Given the description of an element on the screen output the (x, y) to click on. 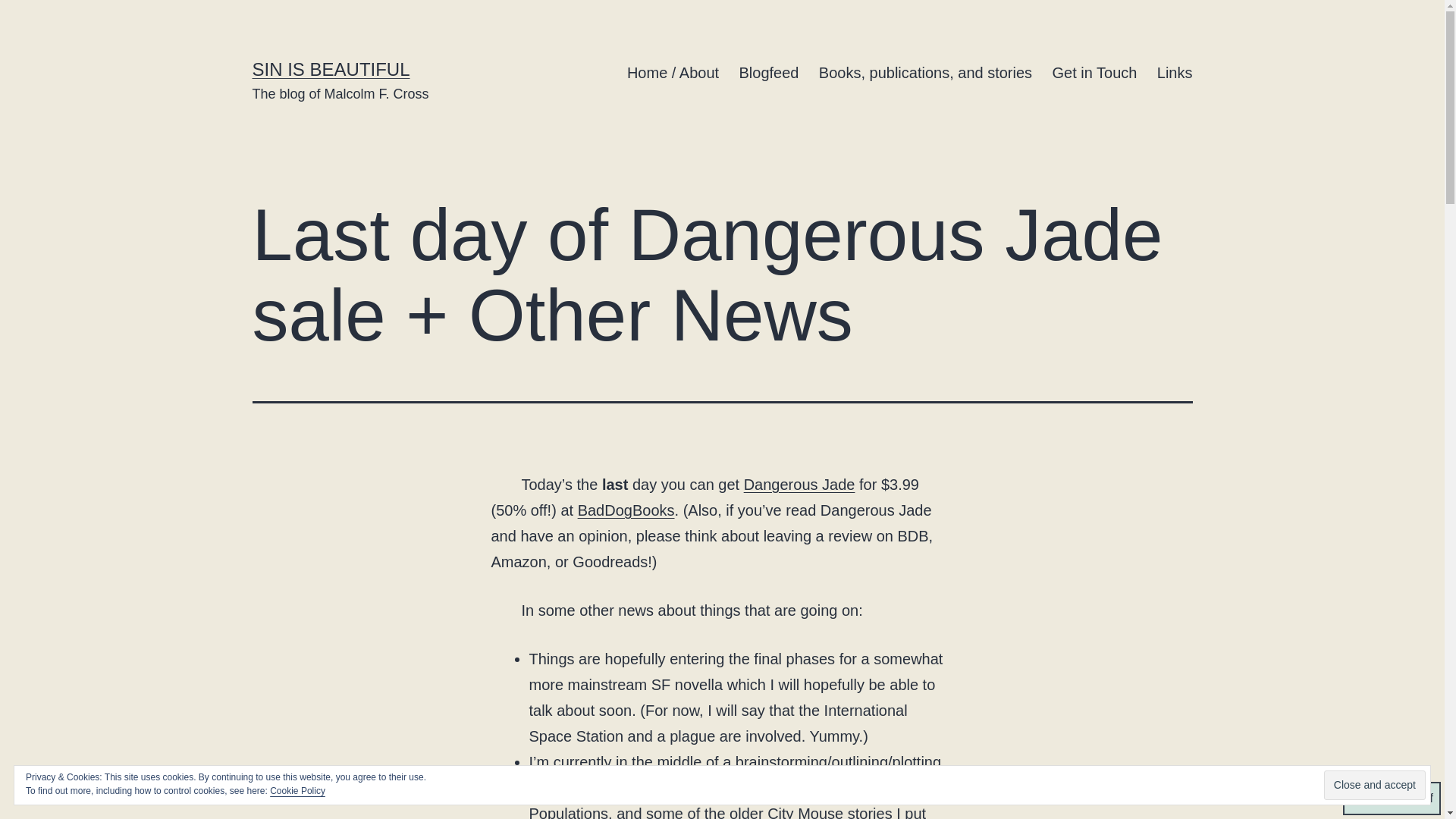
Dangerous Jade (800, 484)
Close and accept (1374, 785)
Books, publications, and stories (925, 72)
Links (1174, 72)
SIN IS BEAUTIFUL (330, 68)
Get in Touch (1094, 72)
BadDogBooks (626, 510)
Blogfeed (768, 72)
